Given the description of an element on the screen output the (x, y) to click on. 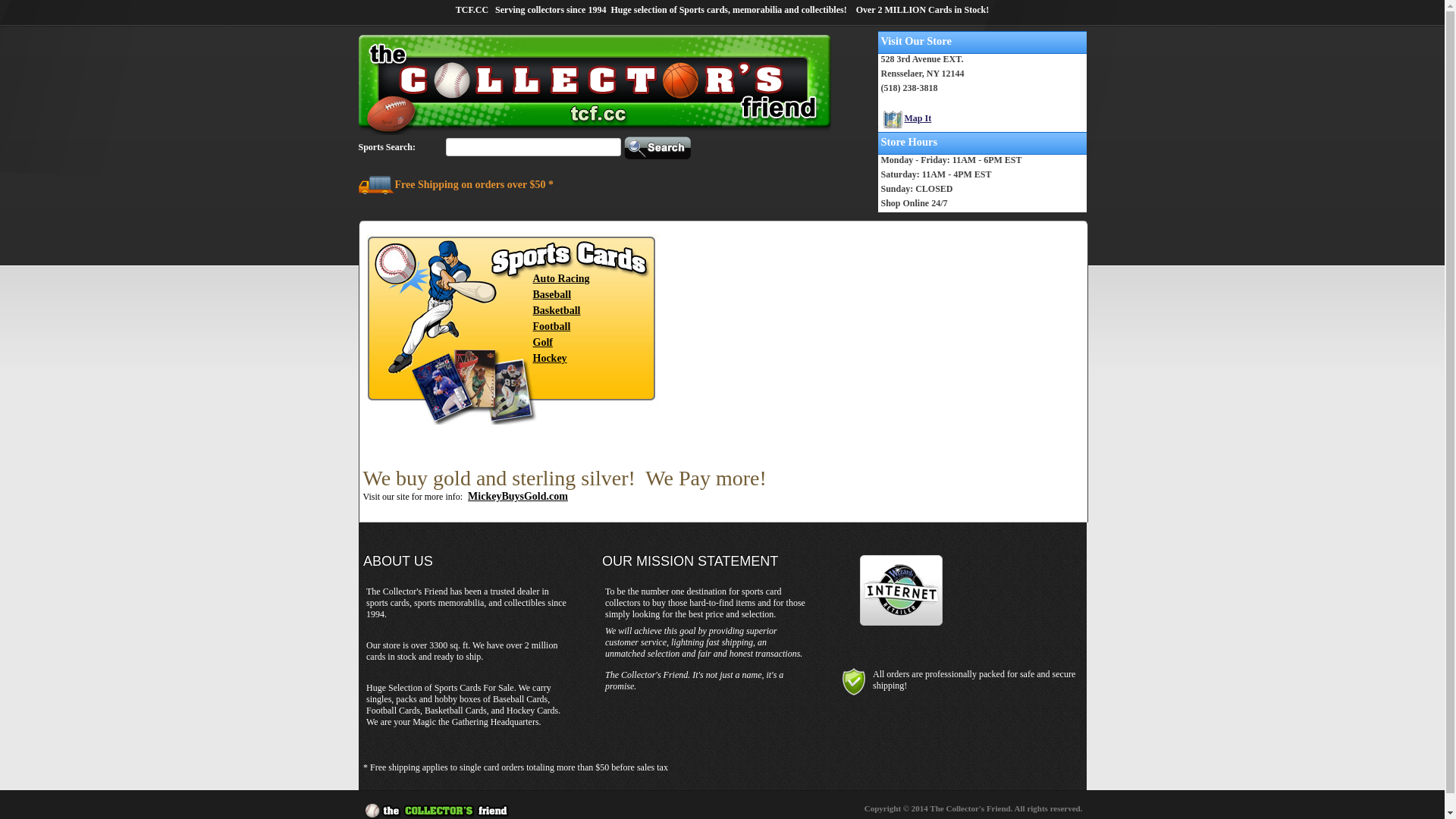
Map It Element type: text (904, 120)
Baseball Element type: text (551, 294)
Hockey Element type: text (549, 358)
MickeyBuysGold.com Element type: text (517, 496)
Golf Element type: text (542, 342)
Auto Racing Element type: text (560, 278)
Football Element type: text (551, 326)
Basketball Element type: text (556, 310)
